Given the description of an element on the screen output the (x, y) to click on. 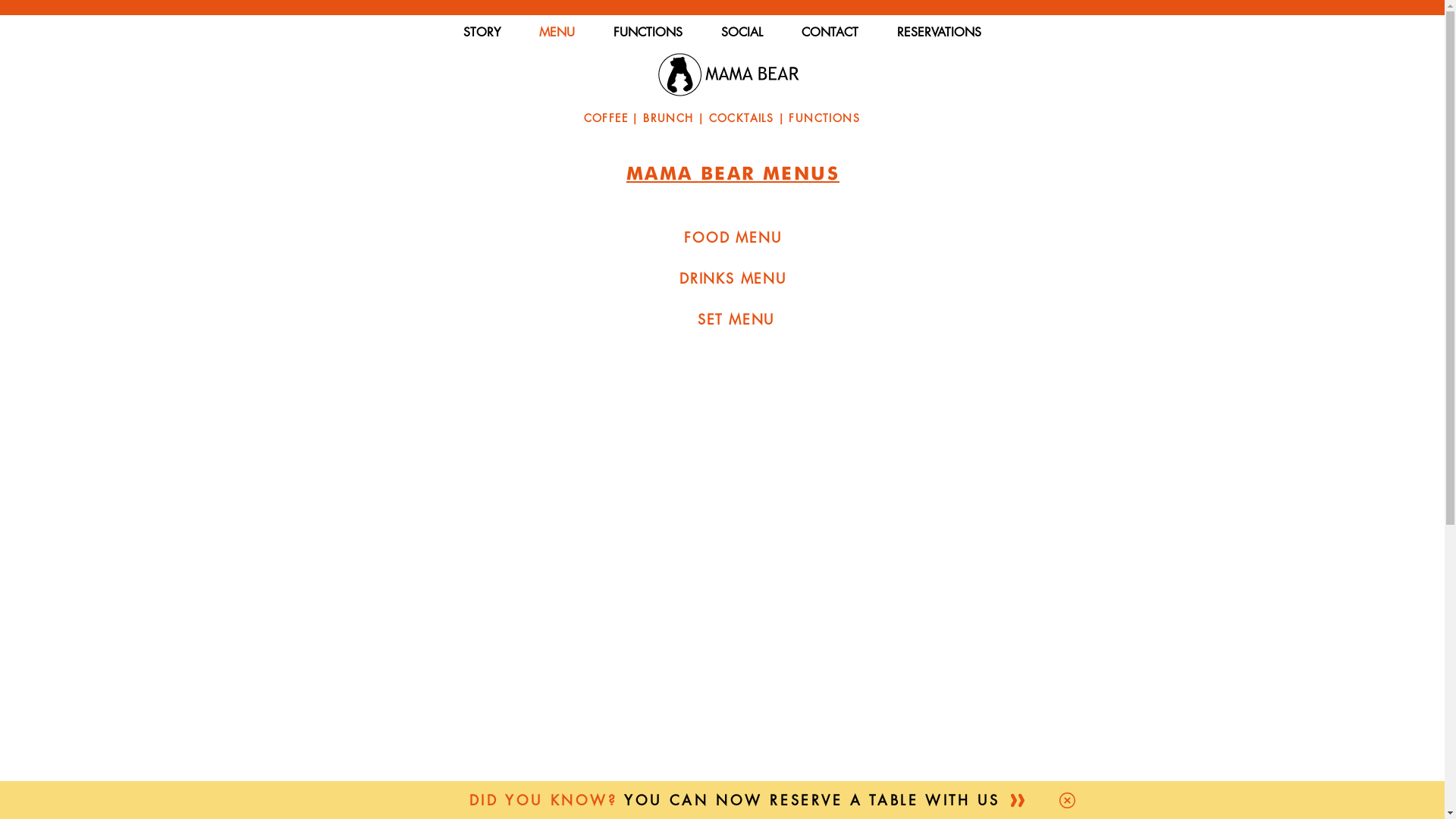
SOCIAL Element type: text (742, 31)
FOOD MENU Element type: text (732, 236)
CONTACT Element type: text (830, 31)
Mama-Bear-Stamp.png Element type: hover (727, 74)
FUNCTIONS Element type: text (648, 31)
RESERVATIONS Element type: text (939, 31)
MENU Element type: text (557, 31)
DRINKS MENU Element type: text (732, 277)
Back to site Element type: hover (1066, 800)
DID YOU KNOW? YOU CAN NOW RESERVE A TABLE WITH US Element type: text (734, 799)
STORY Element type: text (482, 31)
